Given the description of an element on the screen output the (x, y) to click on. 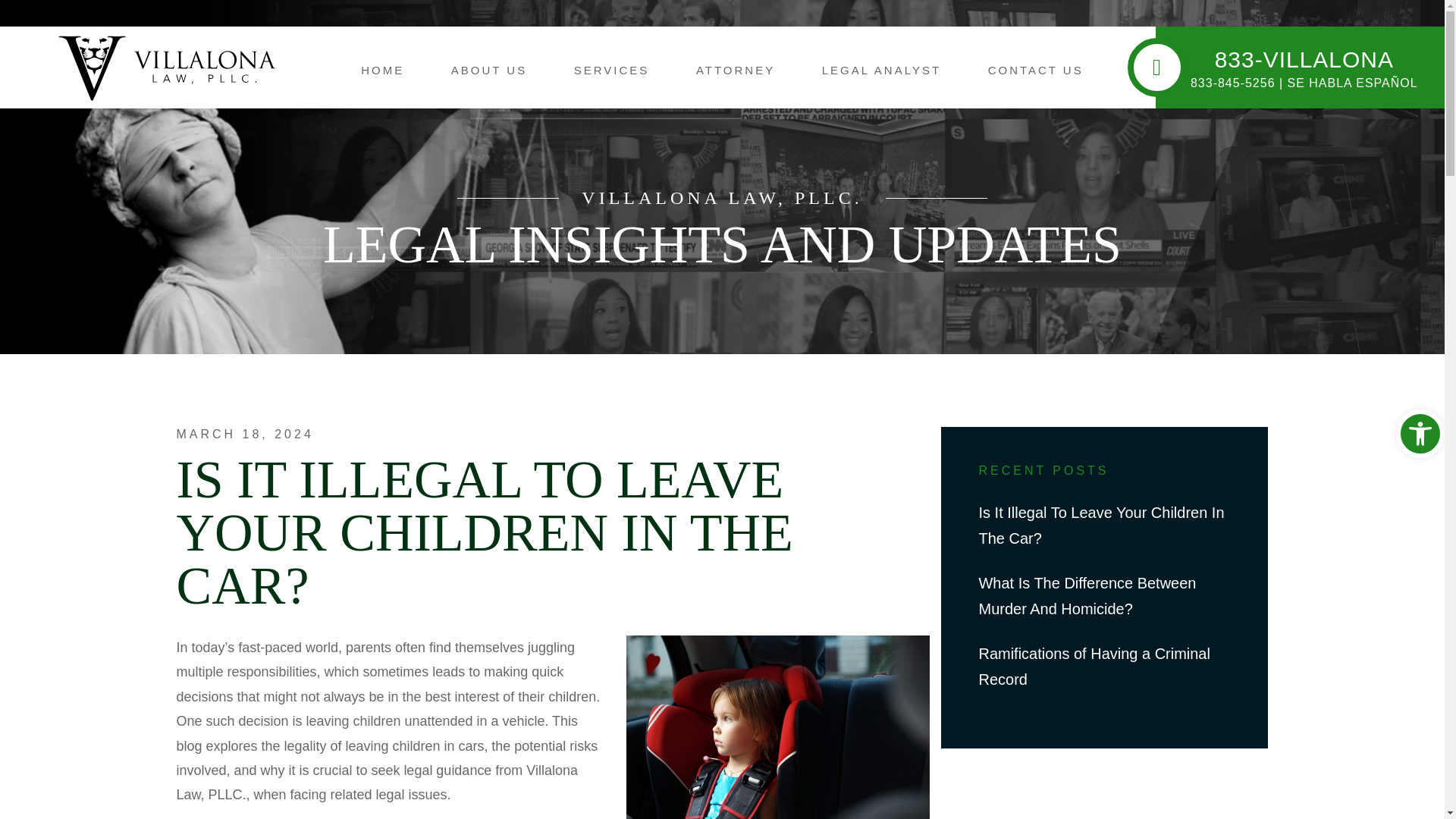
CONTACT US (1035, 70)
ATTORNEY (734, 70)
Ramifications of Having a Criminal Record (1093, 666)
HOME (382, 70)
What Is The Difference Between Murder And Homicide? (1086, 595)
ABOUT US (489, 70)
Accessibility Tools (1419, 433)
Is It Illegal To Leave Your Children In The Car? (1101, 525)
LEGAL ANALYST (881, 70)
SERVICES (611, 70)
